Given the description of an element on the screen output the (x, y) to click on. 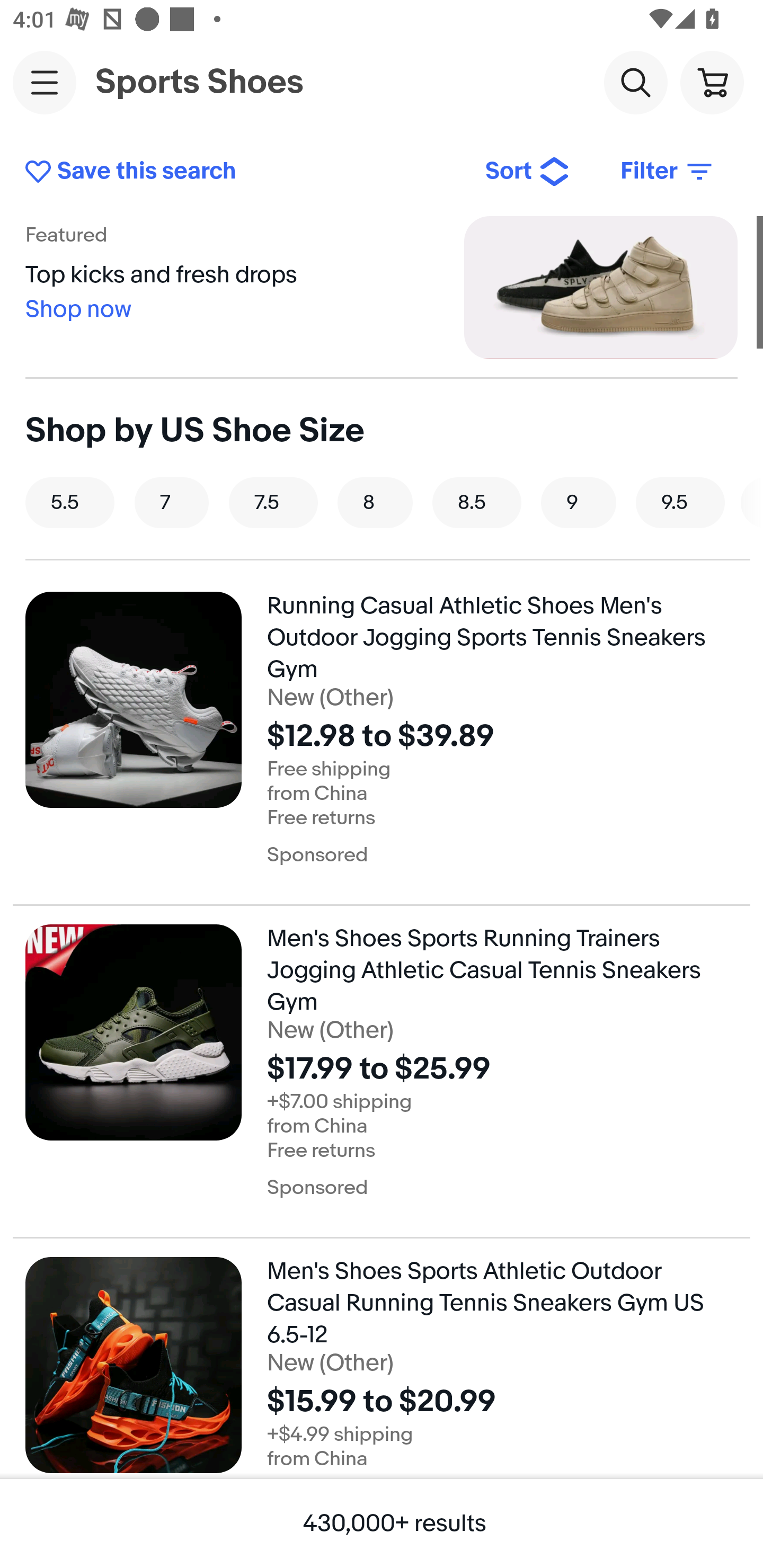
Main navigation, open (44, 82)
Search (635, 81)
Cart button shopping cart (711, 81)
Save this search (241, 171)
Sort (527, 171)
Filter (667, 171)
Featured Top kicks and fresh drops Shop now (381, 287)
5.5 5.5, US Shoe Size (69, 502)
7 7, US Shoe Size (171, 502)
7.5 7.5, US Shoe Size (273, 502)
8 8, US Shoe Size (374, 502)
8.5 8.5, US Shoe Size (476, 502)
9 9, US Shoe Size (578, 502)
9.5 9.5, US Shoe Size (679, 502)
